Given the description of an element on the screen output the (x, y) to click on. 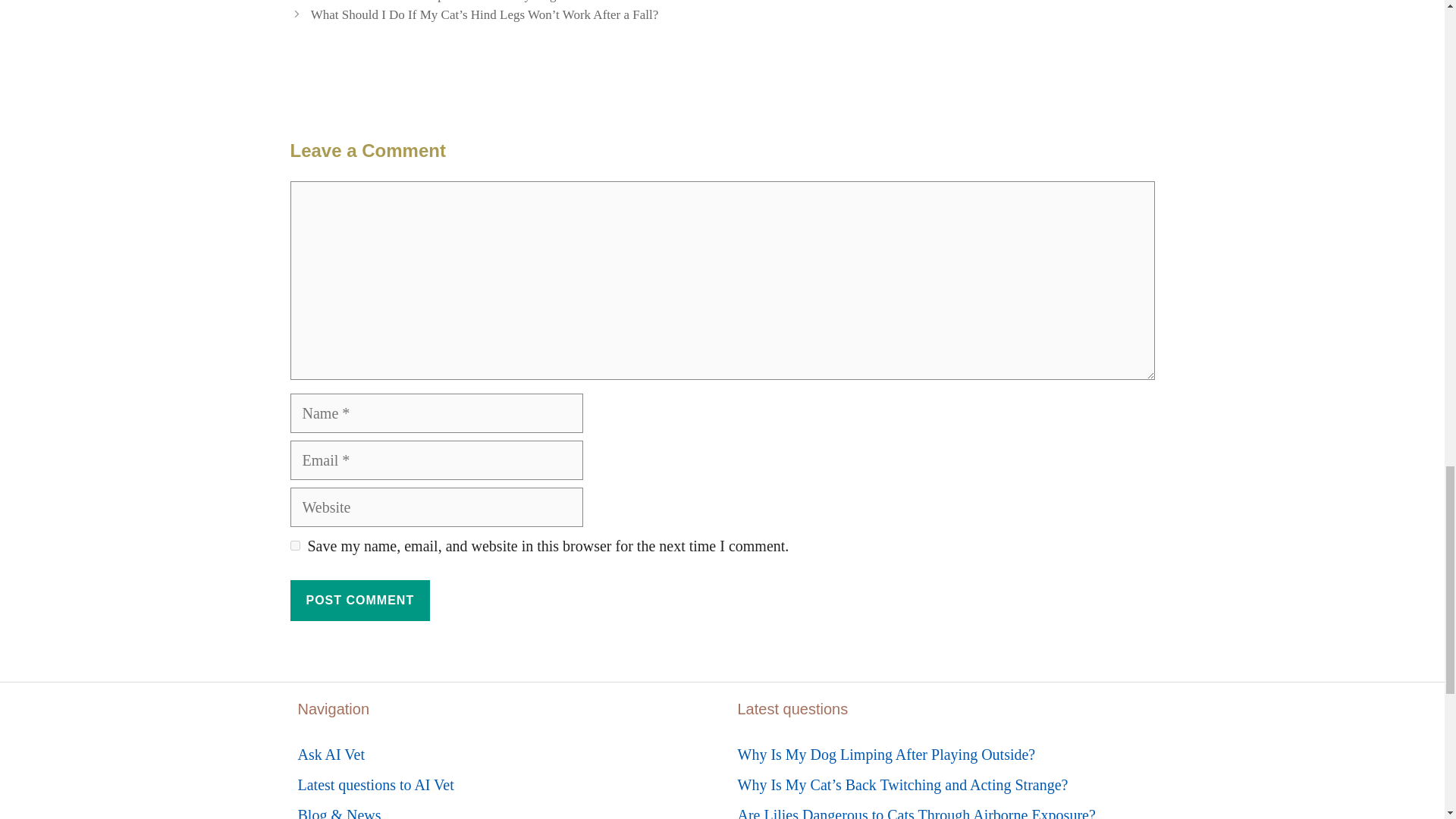
Post Comment (359, 599)
Are Lilies Dangerous to Cats Through Airborne Exposure? (915, 812)
Why Is My Dog Limping After Playing Outside? (885, 754)
Latest questions to AI Vet (374, 784)
Ask AI Vet (331, 754)
Post Comment (359, 599)
yes (294, 545)
